Given the description of an element on the screen output the (x, y) to click on. 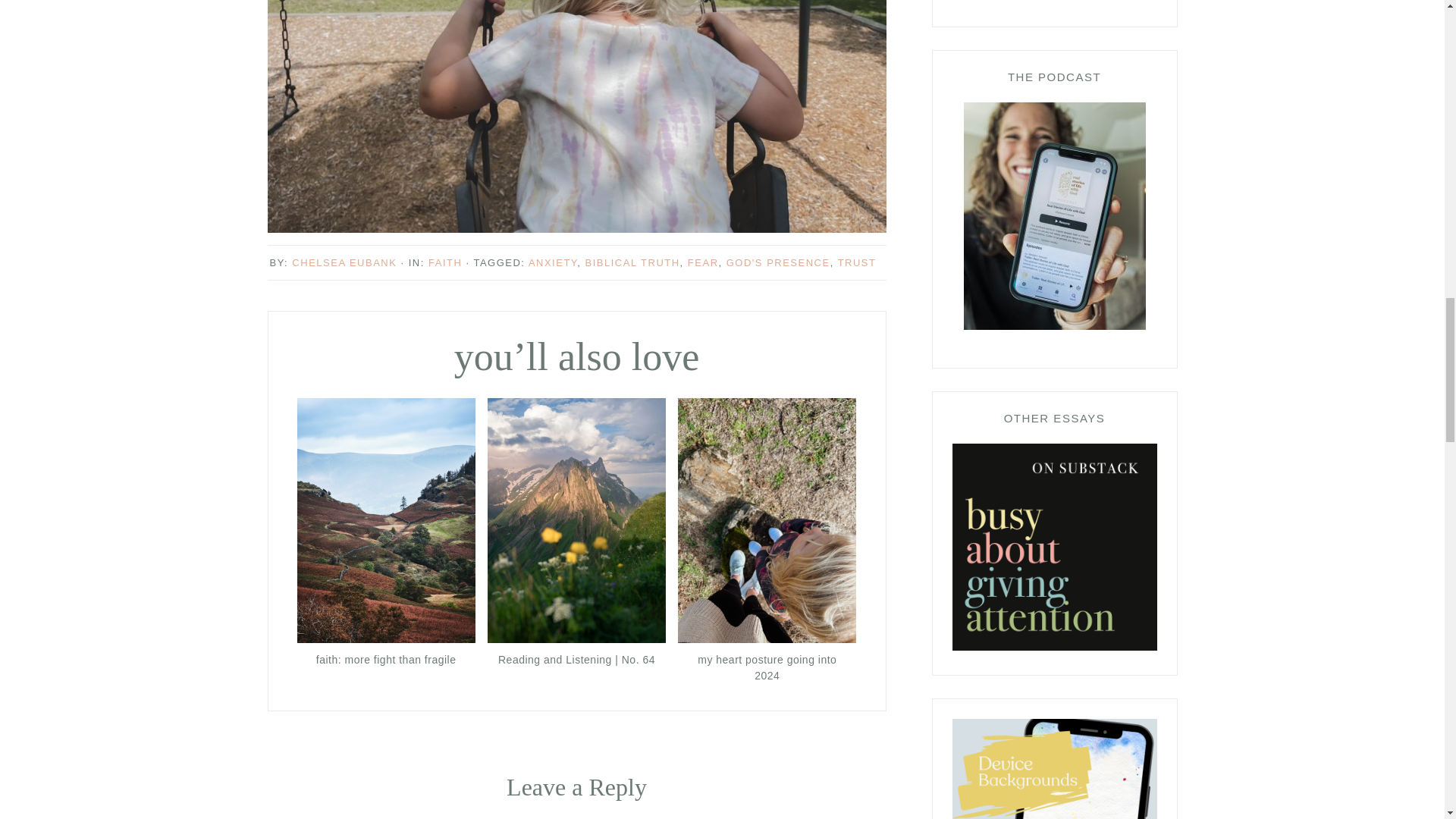
Permanent Link to my heart posture going into 2024 (767, 667)
Permanent Link to my heart posture going into 2024 (767, 639)
Permanent Link to faith: more fight than fragile (386, 639)
Permanent Link to faith: more fight than fragile (386, 659)
